Given the description of an element on the screen output the (x, y) to click on. 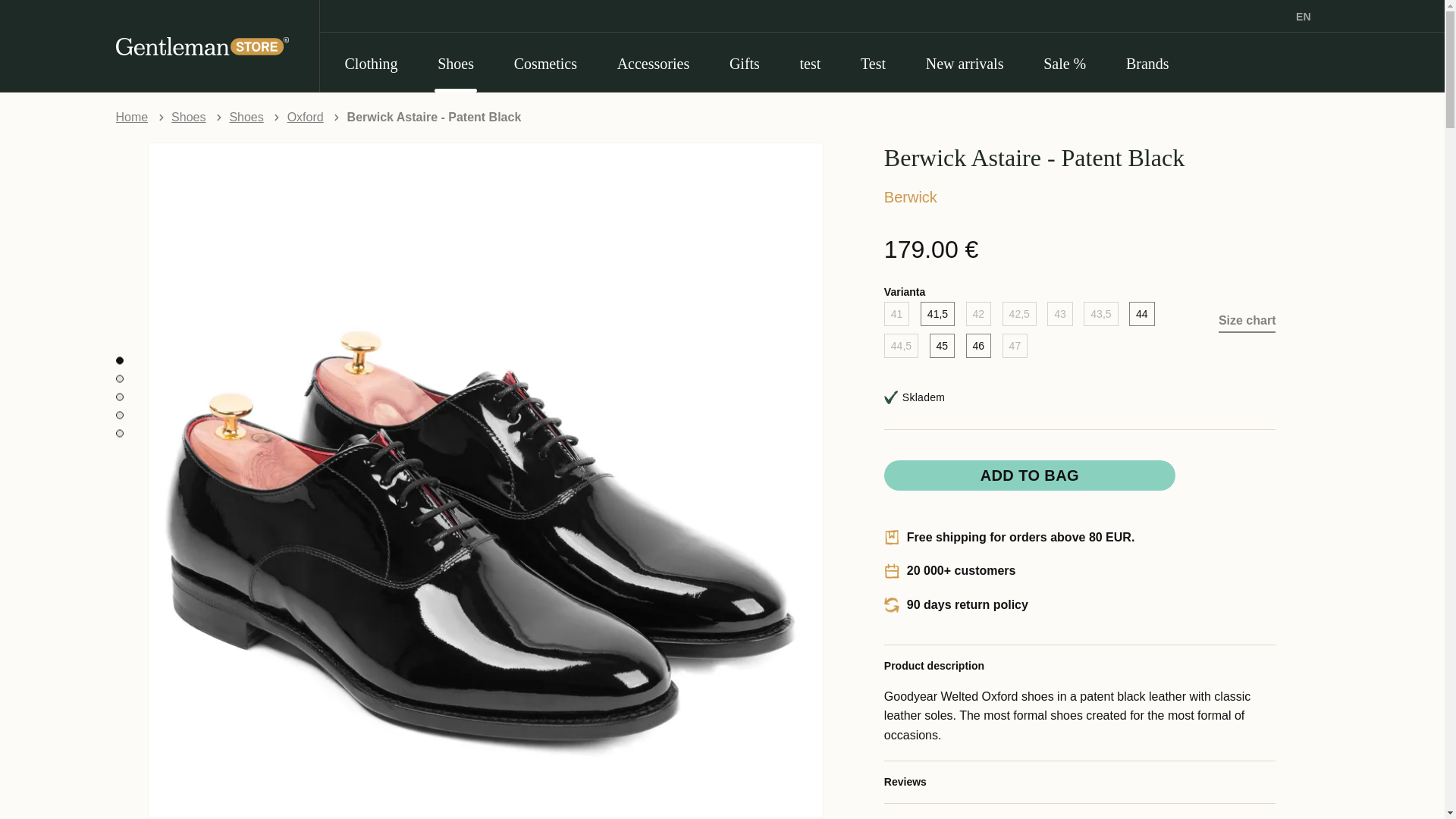
About brand (1079, 810)
EN (1317, 16)
Clothing (370, 62)
Shoes (245, 116)
Reviews (1079, 781)
Shoes (188, 116)
Vymazat (1114, 51)
Product description (1079, 665)
Oxford (304, 116)
